Given the description of an element on the screen output the (x, y) to click on. 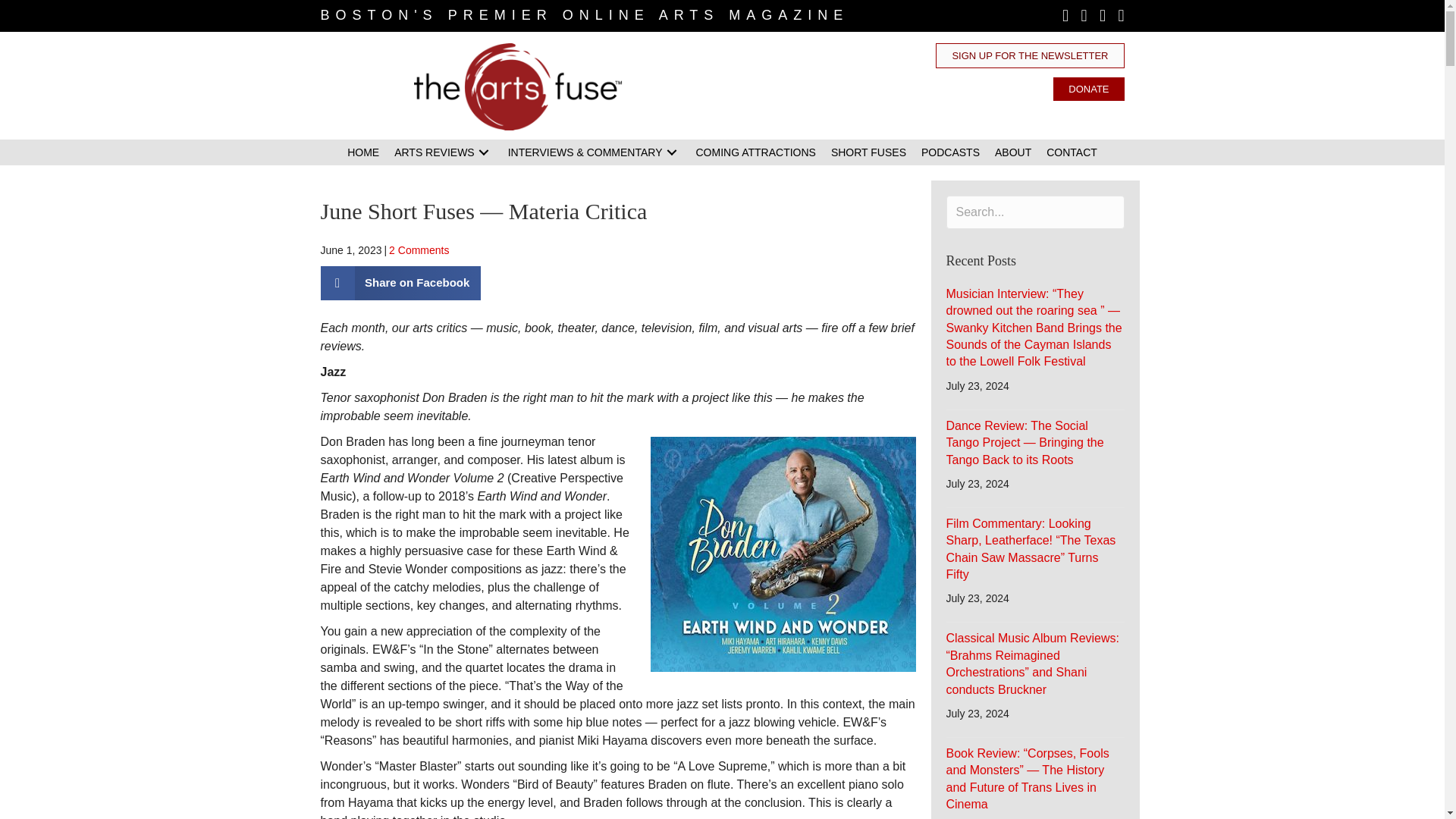
ARTS REVIEWS (443, 152)
The Arts Fuse logo (518, 86)
DONATE (1088, 88)
PODCASTS (950, 152)
SHORT FUSES (869, 152)
SIGN UP FOR THE NEWSLETTER (1030, 55)
ABOUT (1013, 152)
COMING ATTRACTIONS (756, 152)
Share on Facebook (400, 283)
CONTACT (1072, 152)
HOME (363, 152)
2 Comments (418, 250)
